Given the description of an element on the screen output the (x, y) to click on. 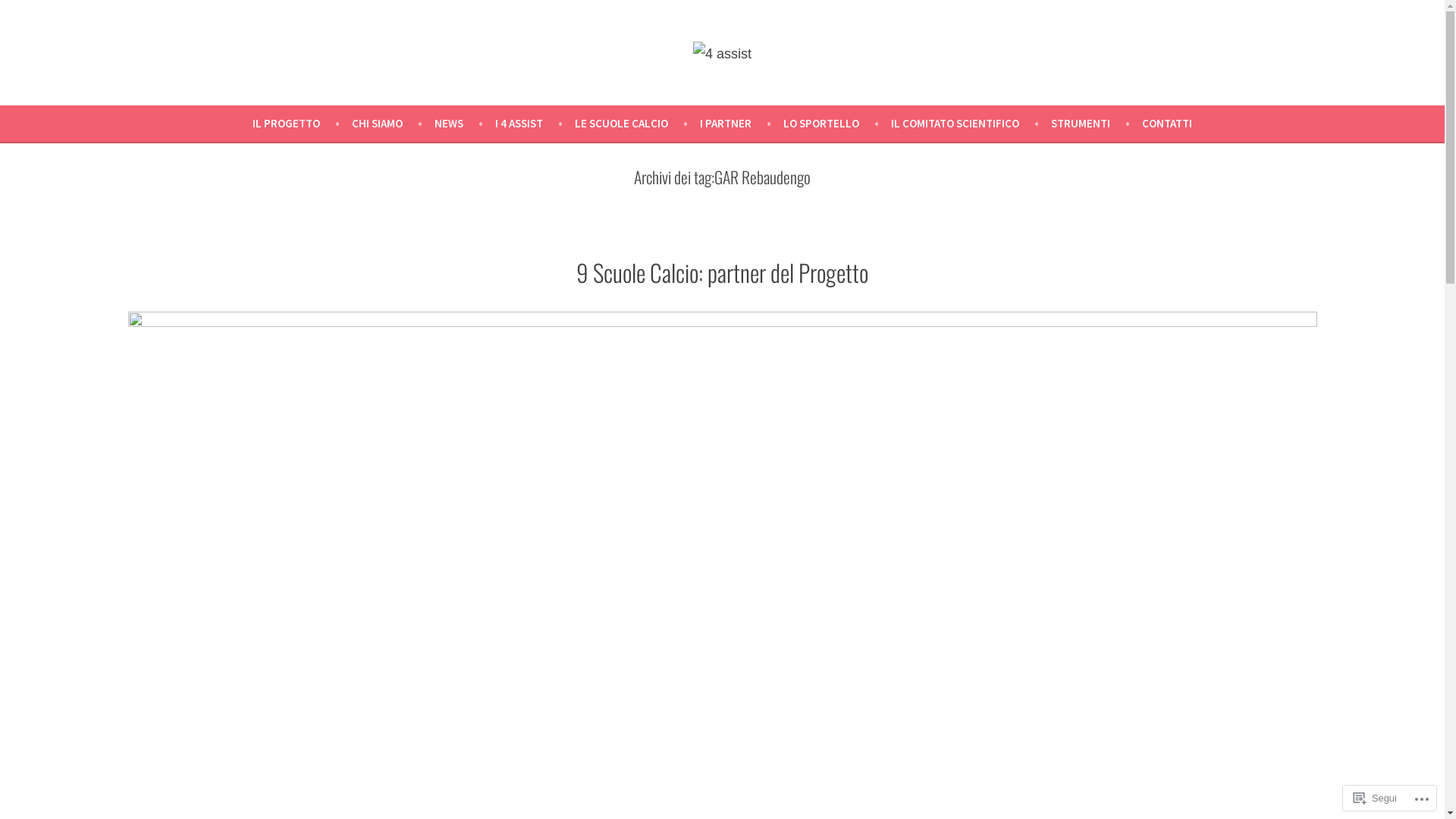
IL COMITATO SCIENTIFICO Element type: text (971, 123)
LO SPORTELLO Element type: text (837, 123)
Segui Element type: text (1374, 797)
CHI SIAMO Element type: text (392, 123)
STRUMENTI Element type: text (1096, 123)
NEWS Element type: text (464, 123)
LE SCUOLE CALCIO Element type: text (636, 123)
CONTATTI Element type: text (1167, 123)
I PARTNER Element type: text (741, 123)
I 4 ASSIST Element type: text (534, 123)
9 Scuole Calcio: partner del Progetto Element type: text (722, 271)
IL PROGETTO Element type: text (301, 123)
4 assist Element type: text (37, 83)
